Given the description of an element on the screen output the (x, y) to click on. 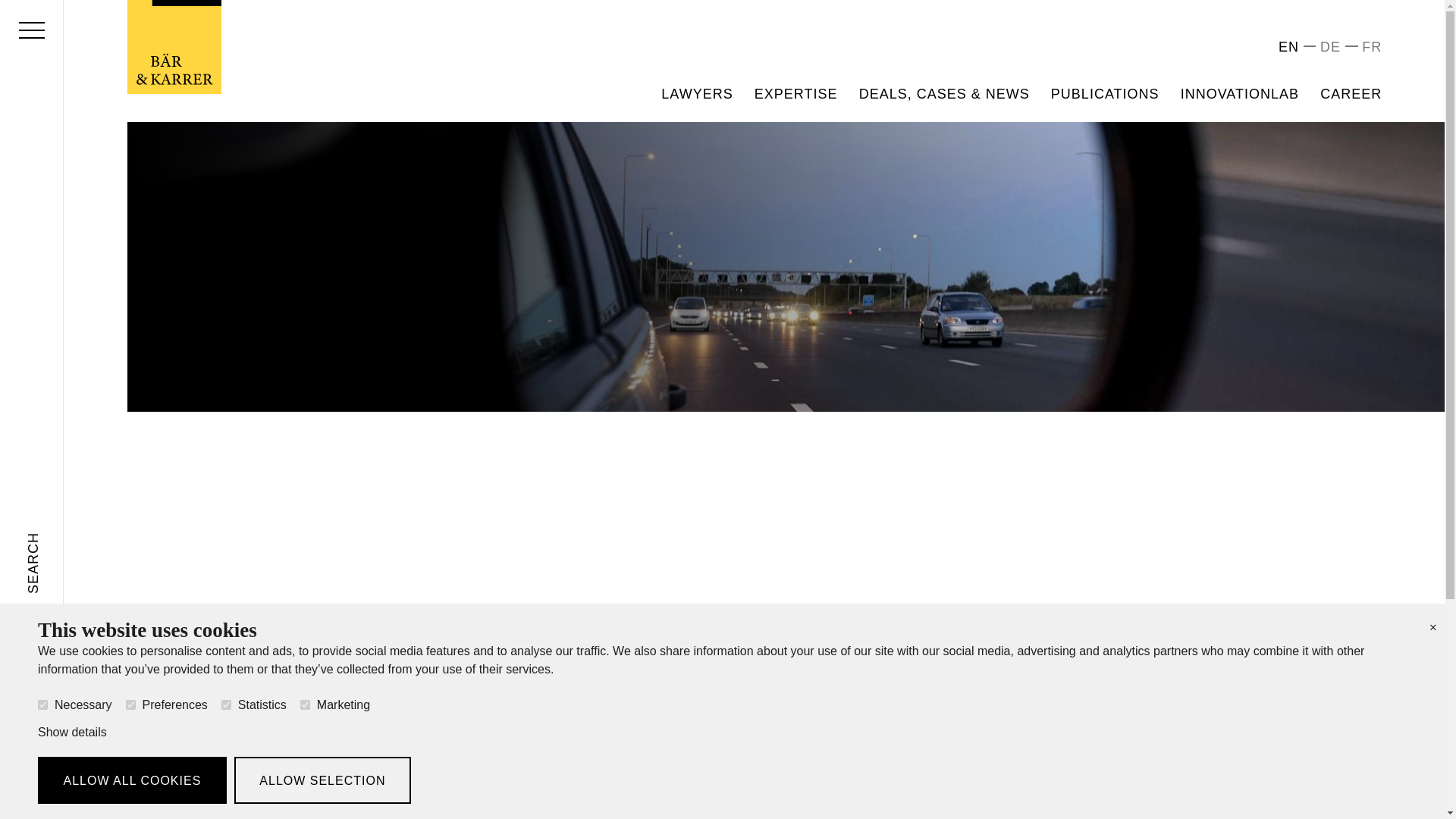
FR (1371, 47)
EN (1288, 47)
DE (1330, 47)
on (130, 705)
on (42, 705)
on (226, 705)
on (304, 705)
ALLOW SELECTION (322, 779)
ALLOW ALL COOKIES (132, 779)
Show details (71, 731)
